Given the description of an element on the screen output the (x, y) to click on. 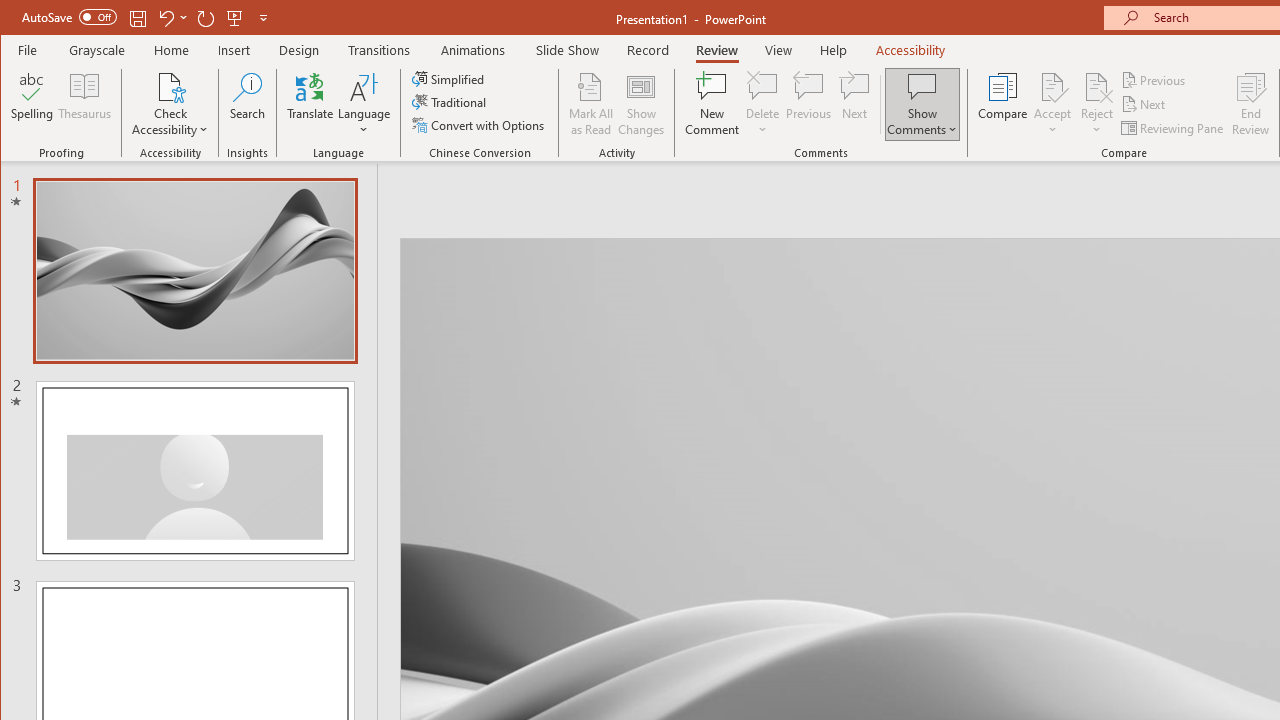
Translate (310, 104)
Language (363, 104)
End Review (1251, 104)
Show Changes (640, 104)
Reject Change (1096, 86)
Accept Change (1052, 86)
Compare (1002, 104)
